Given the description of an element on the screen output the (x, y) to click on. 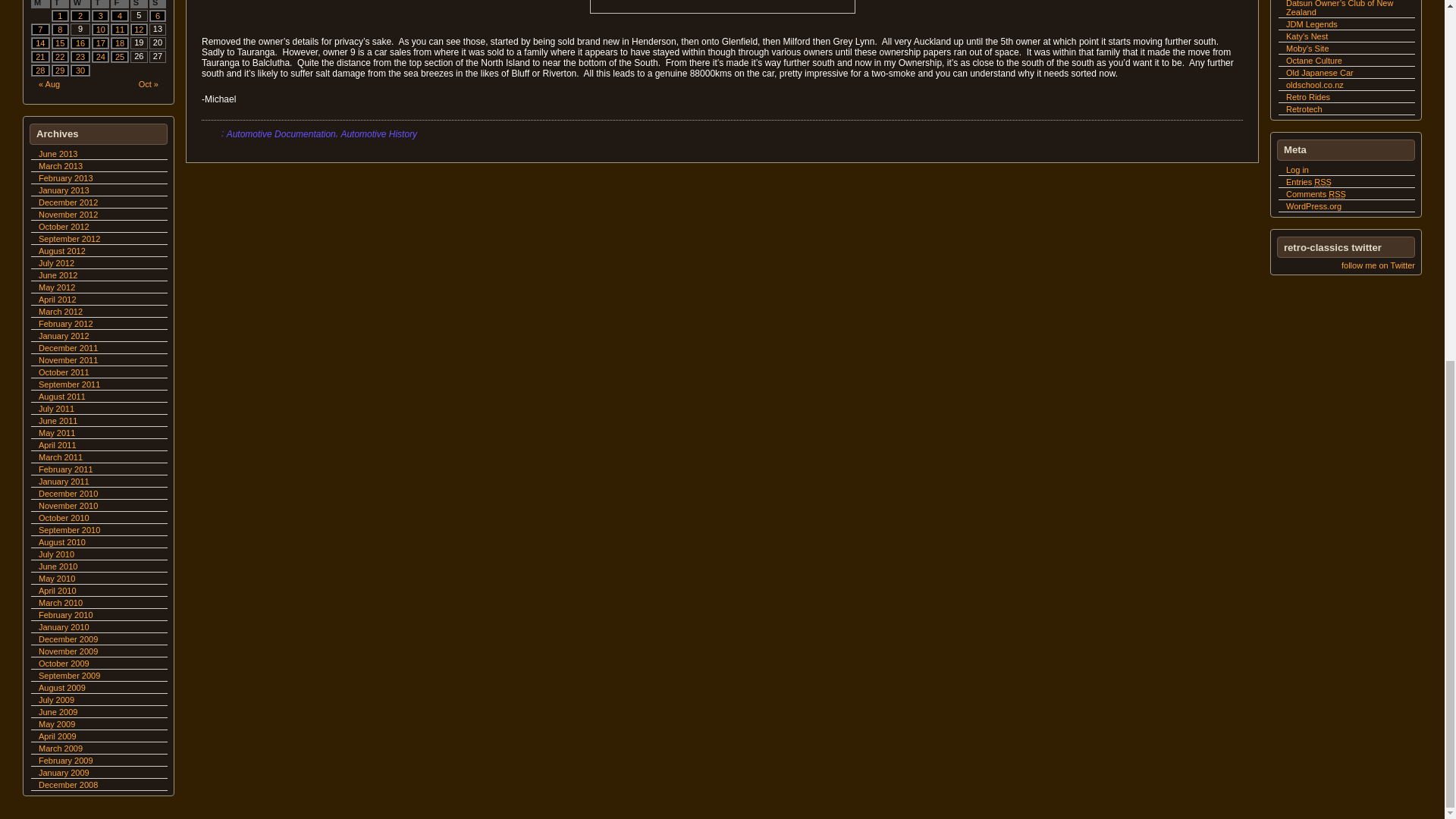
8 (60, 29)
2 (79, 15)
View all posts in Automotive History (378, 133)
6 (157, 15)
4 (120, 15)
1 (60, 15)
View all posts in Automotive Documentation (281, 133)
7 (40, 29)
Automotive Documentation (281, 133)
3 (100, 15)
max-distance (722, 6)
Automotive History (378, 133)
